Given the description of an element on the screen output the (x, y) to click on. 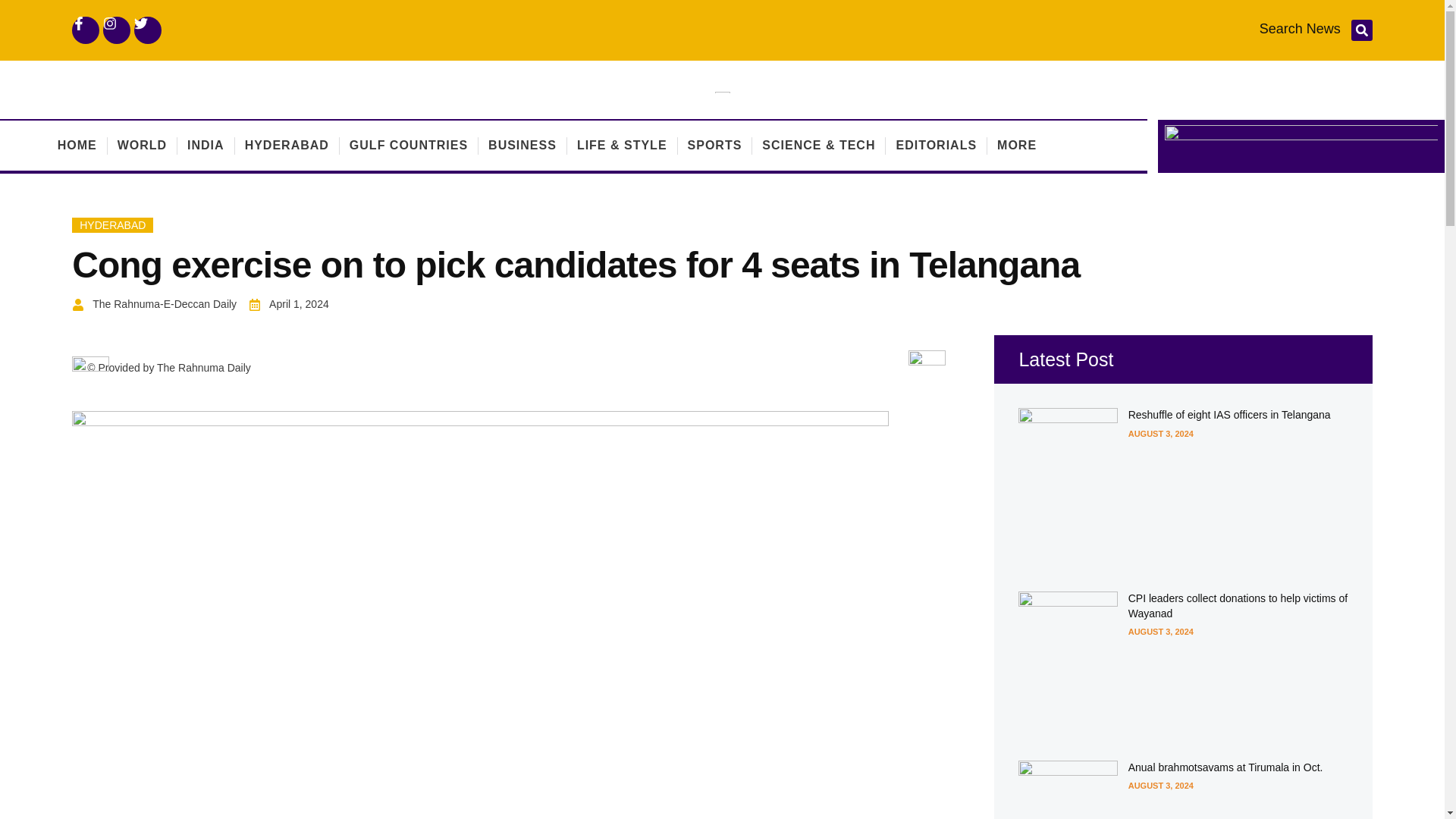
HYDERABAD (112, 224)
HYDERABAD (286, 145)
EDITORIALS (935, 145)
BUSINESS (521, 145)
SPORTS (714, 145)
WORLD (142, 145)
GULF COUNTRIES (408, 145)
